Given the description of an element on the screen output the (x, y) to click on. 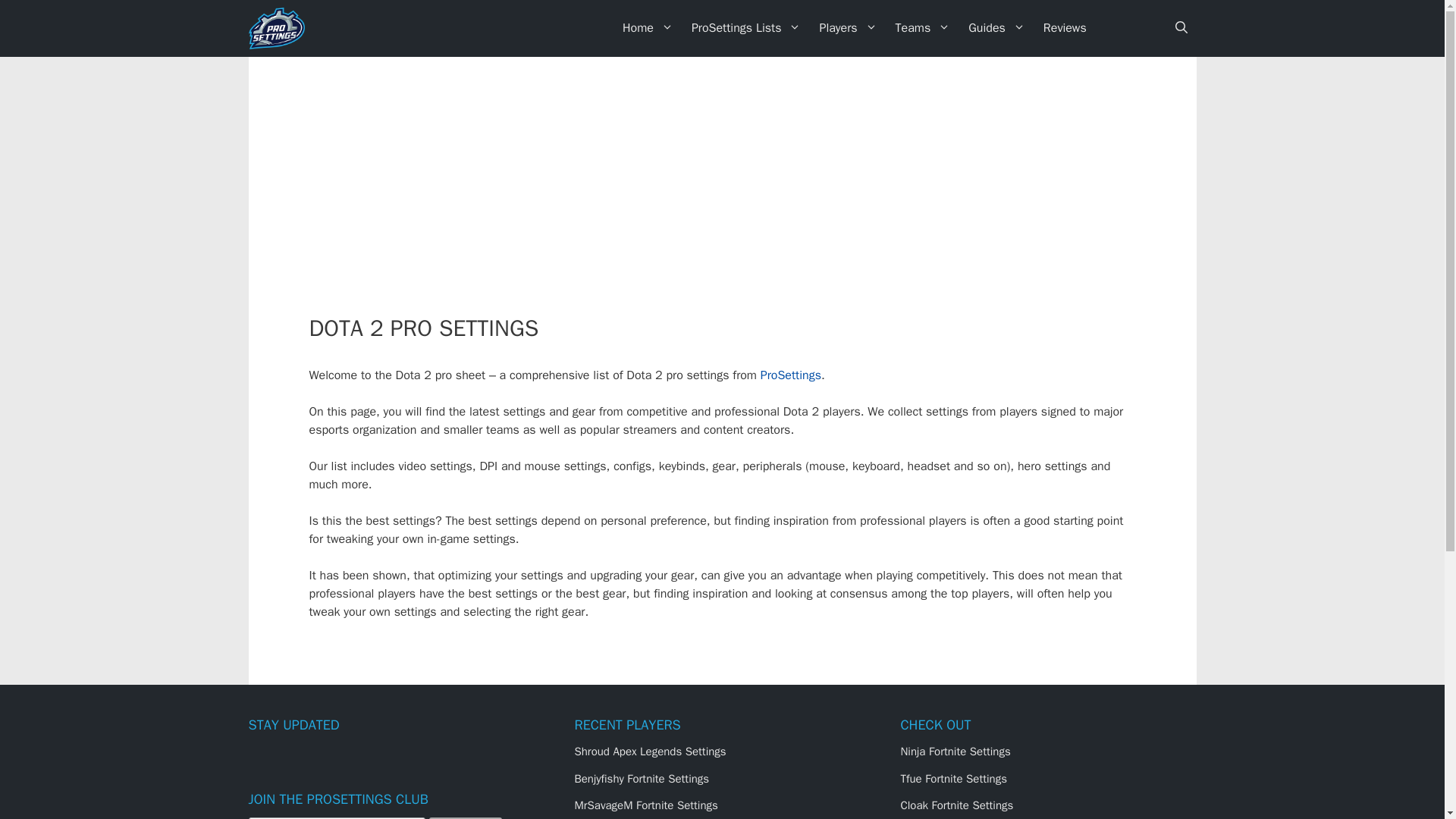
Subscribe (465, 818)
ProSettings.com (276, 28)
ProSettings.com (280, 28)
